Given the description of an element on the screen output the (x, y) to click on. 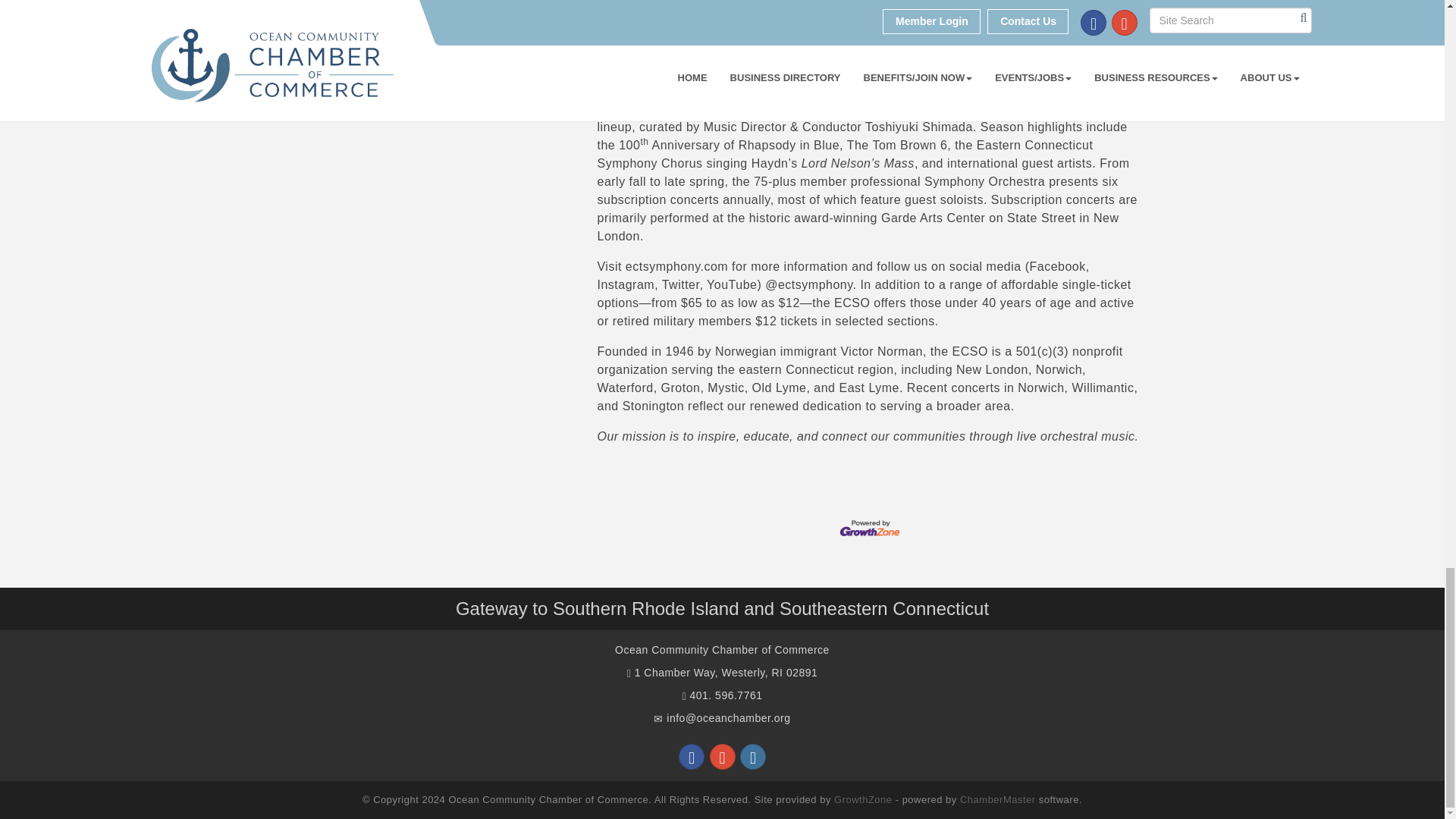
Icon Link (722, 756)
Icon Link (691, 756)
Icon Link (752, 756)
